Given the description of an element on the screen output the (x, y) to click on. 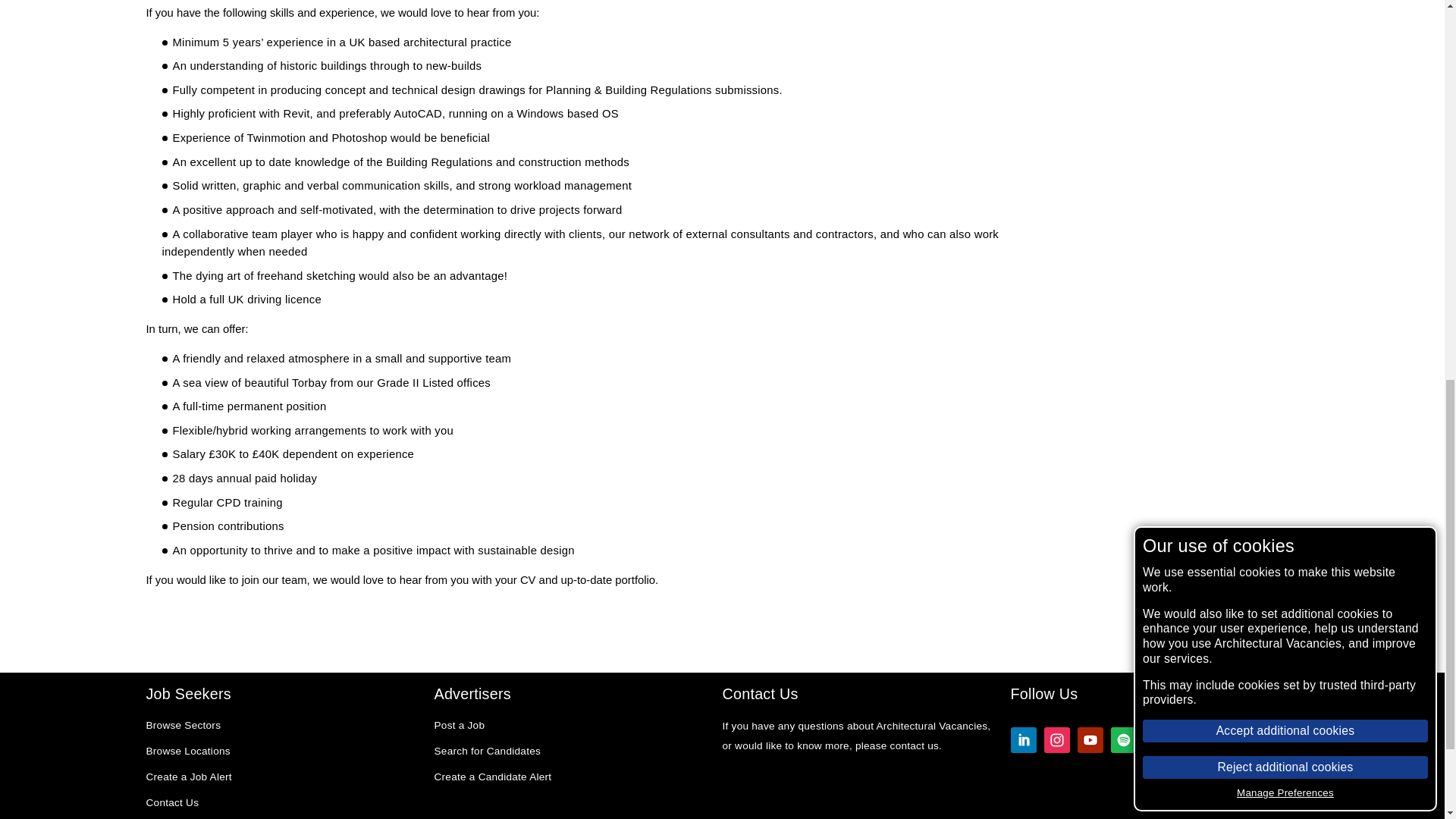
Search for Candidates (486, 752)
Follow us on Instagram (1055, 741)
Create a Candidate Alert (492, 777)
Follow us on YouTube (1089, 741)
Browse Locations (187, 752)
Follow us on LinkedIn (1022, 741)
Browse Sectors (183, 726)
Create a Job Alert (188, 777)
Follow us on Spotify (1122, 741)
contact us (914, 745)
Post a Job (458, 726)
Contact Us (171, 803)
